Given the description of an element on the screen output the (x, y) to click on. 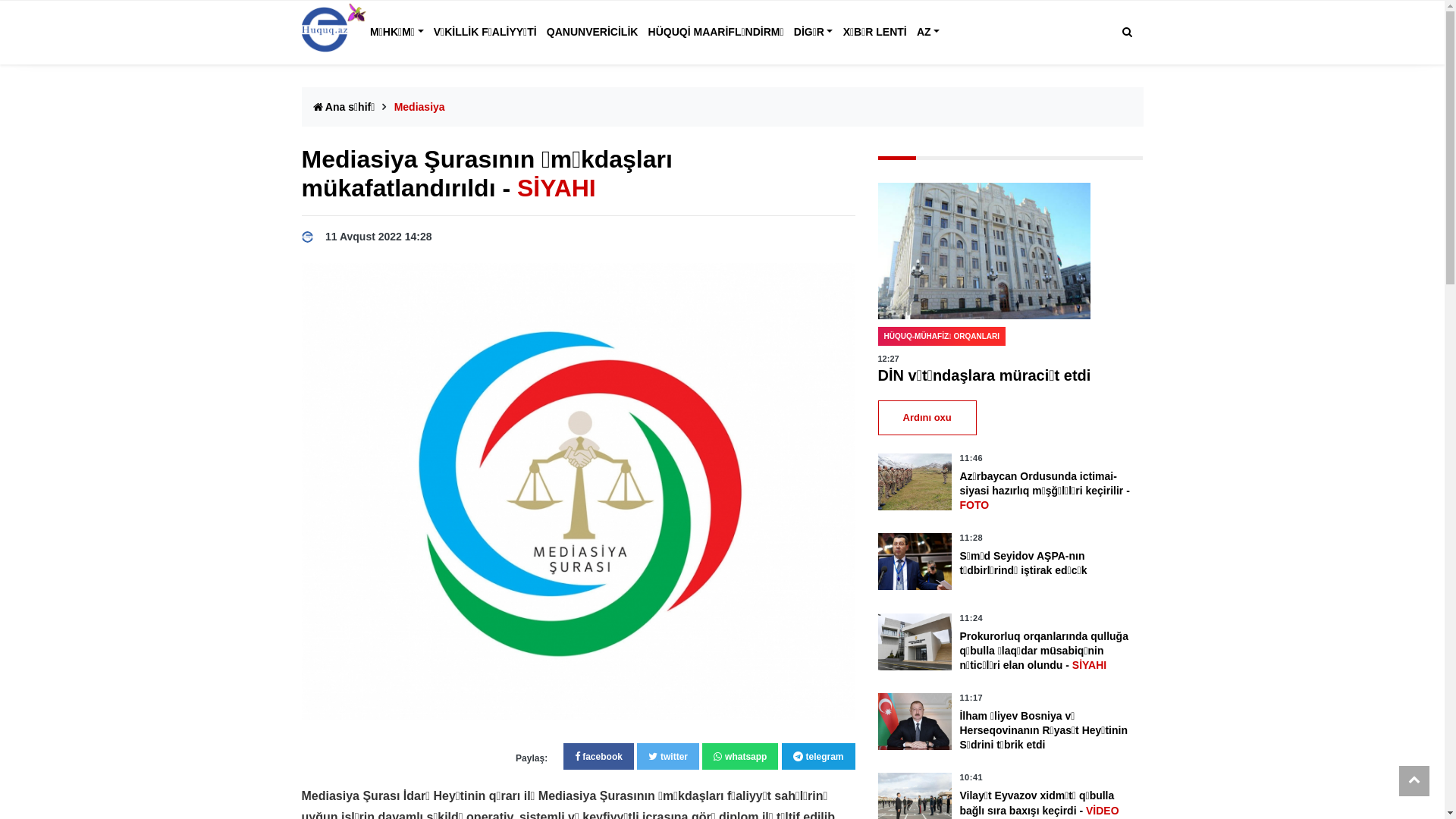
AZ Element type: text (927, 32)
QANUNVERICILIK Element type: text (592, 32)
telegram Element type: text (818, 756)
facebook Element type: text (598, 756)
whatsapp Element type: text (740, 756)
twitter Element type: text (668, 756)
